Given the description of an element on the screen output the (x, y) to click on. 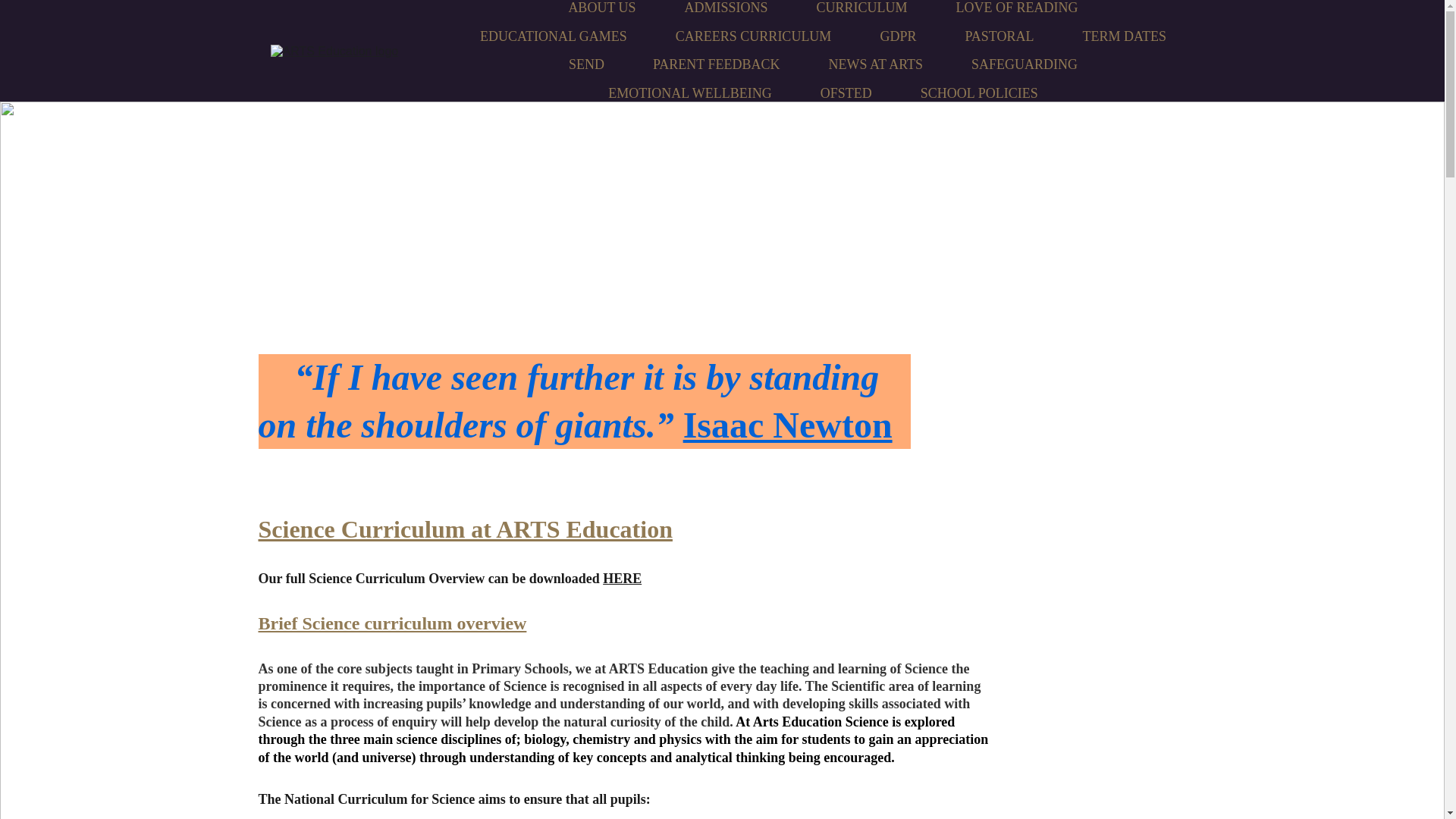
ABOUT US (600, 8)
Isaac Newton (787, 424)
GDPR (897, 36)
SEND (586, 64)
OFSTED (846, 93)
EDUCATIONAL GAMES (553, 36)
PASTORAL (998, 36)
SAFEGUARDING (1024, 64)
PARENT FEEDBACK (716, 64)
SCHOOL POLICIES (979, 93)
